Given the description of an element on the screen output the (x, y) to click on. 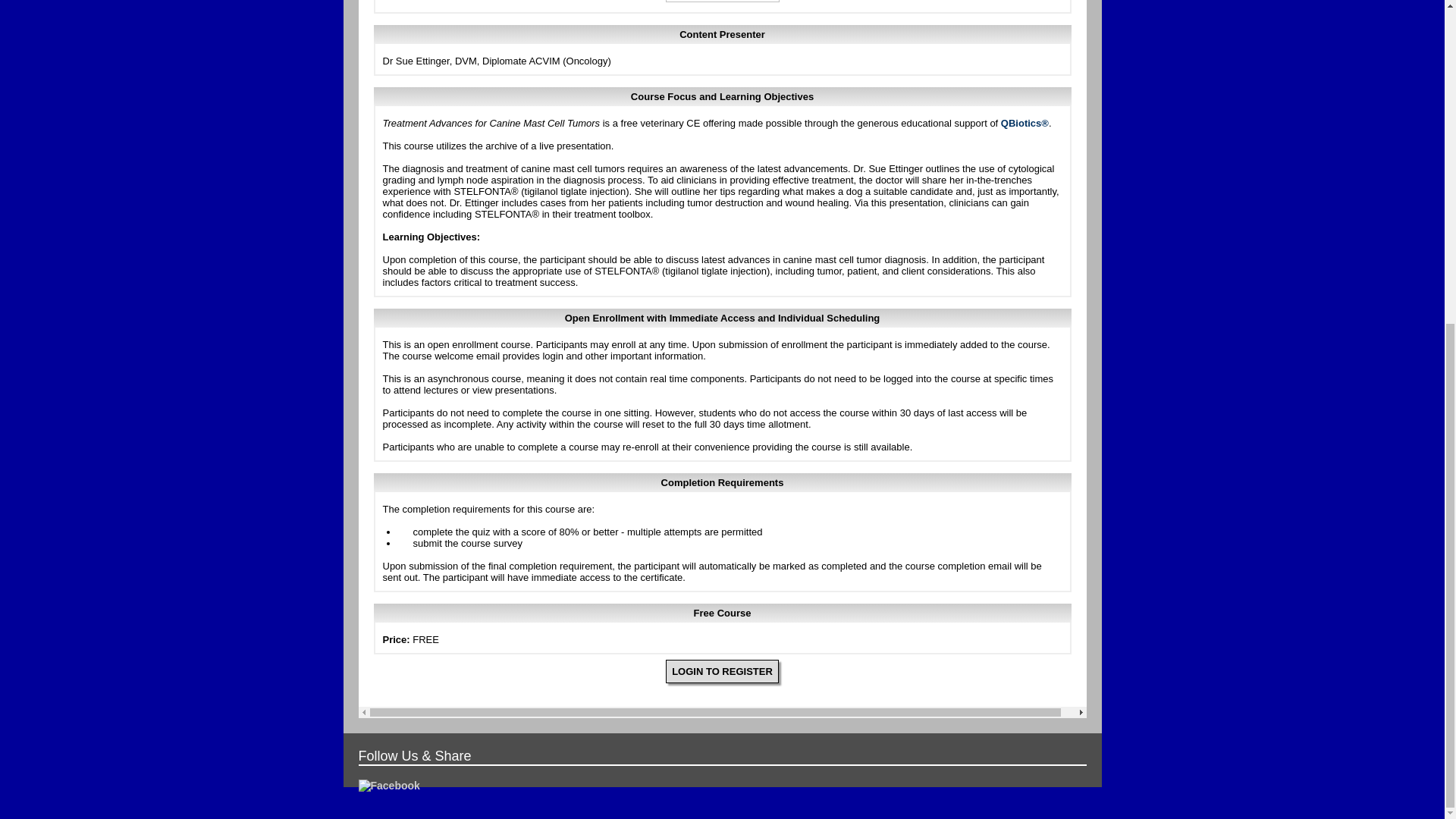
LOGIN TO REGISTER (721, 671)
